Given the description of an element on the screen output the (x, y) to click on. 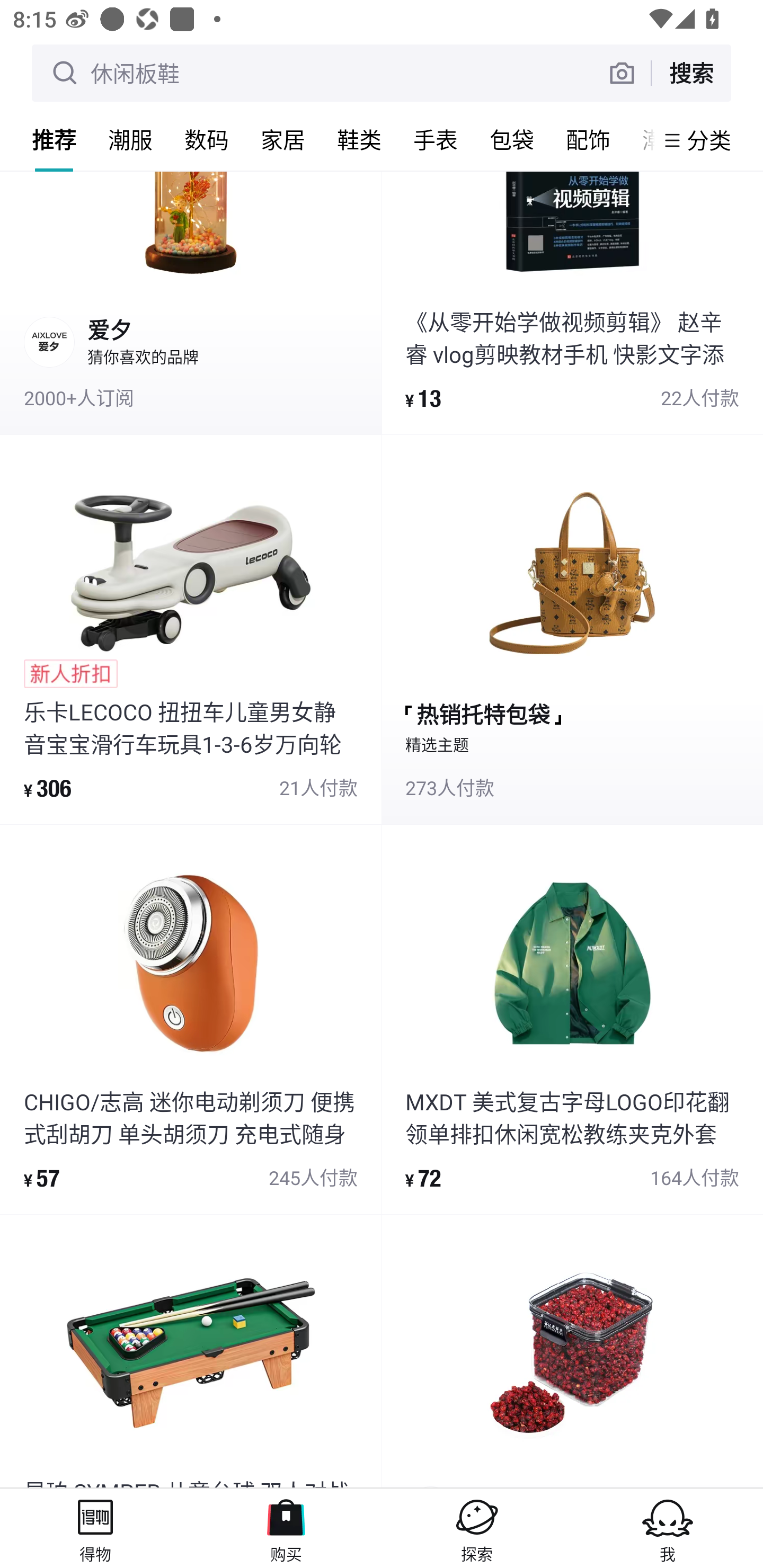
搜索 (690, 72)
推荐 (54, 139)
潮服 (130, 139)
数码 (206, 139)
家居 (282, 139)
鞋类 (359, 139)
手表 (435, 139)
包袋 (511, 139)
配饰 (588, 139)
分类 (708, 139)
爱夕 猜你喜欢的品牌 2000+人订阅 (190, 302)
热销托特包袋 精选主题 273人付款 (572, 629)
谷记老谷头 (572, 1351)
得物 (95, 1528)
购买 (285, 1528)
探索 (476, 1528)
我 (667, 1528)
